Given the description of an element on the screen output the (x, y) to click on. 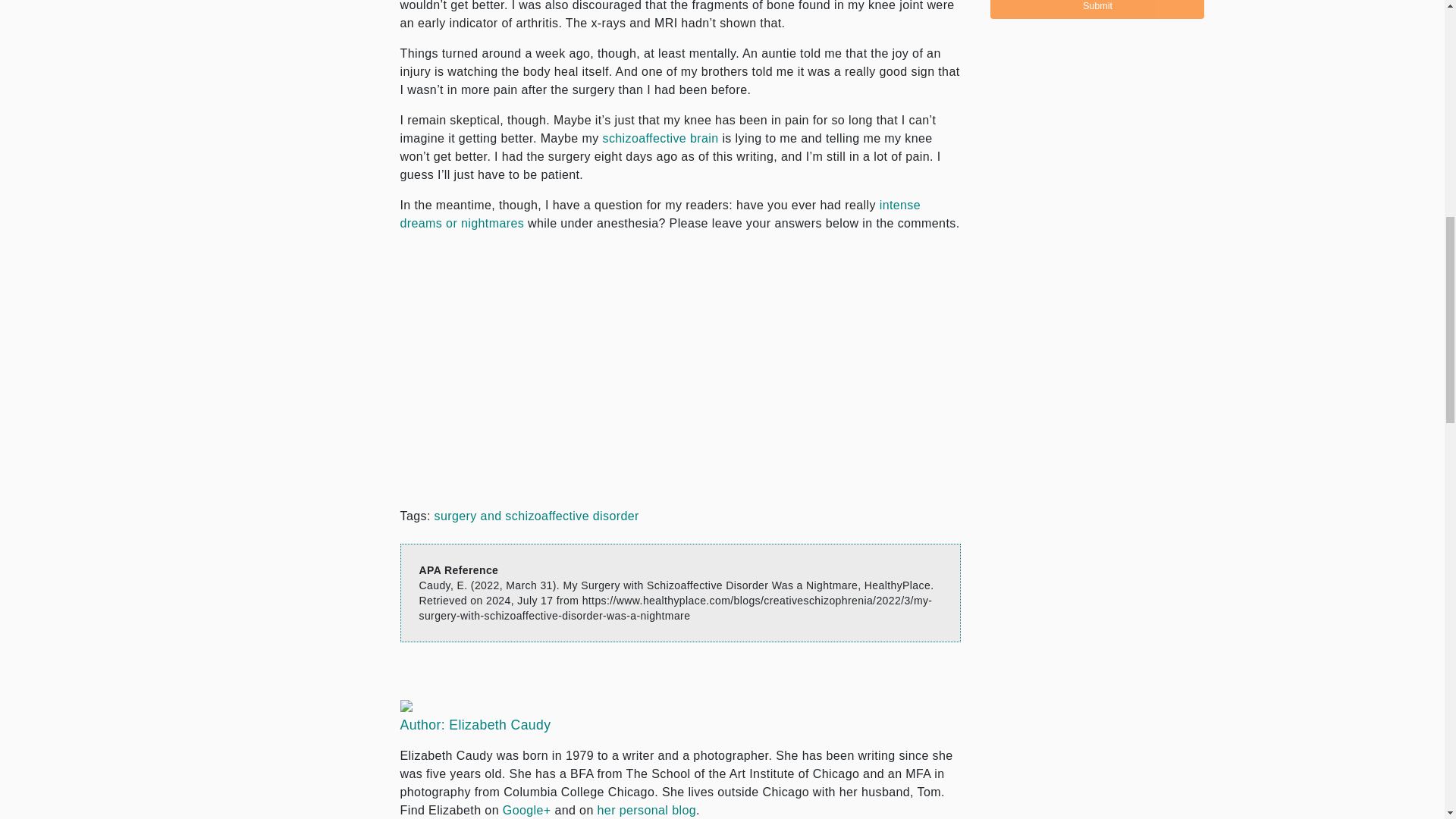
Submit (1097, 9)
How I Cope When Vivid Dreams Affect My Anxiety (660, 214)
Schizophrenia Brain: Impact of Schizophrenia on the Brain (659, 137)
YouTube video player (612, 364)
